Given the description of an element on the screen output the (x, y) to click on. 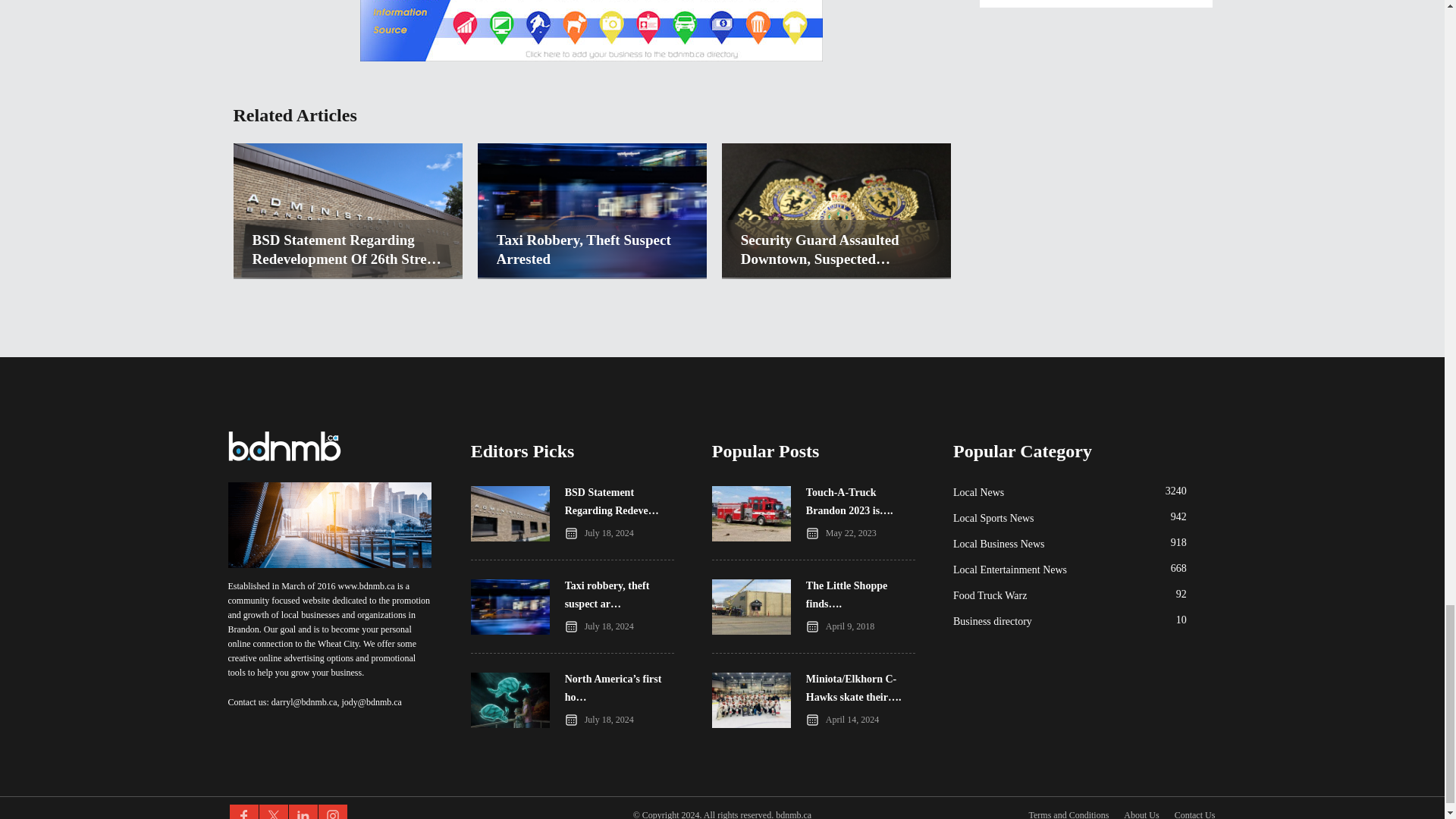
Taxi robbery, theft suspect arrested (591, 249)
Taxi robbery, theft suspect arrested (591, 273)
